Given the description of an element on the screen output the (x, y) to click on. 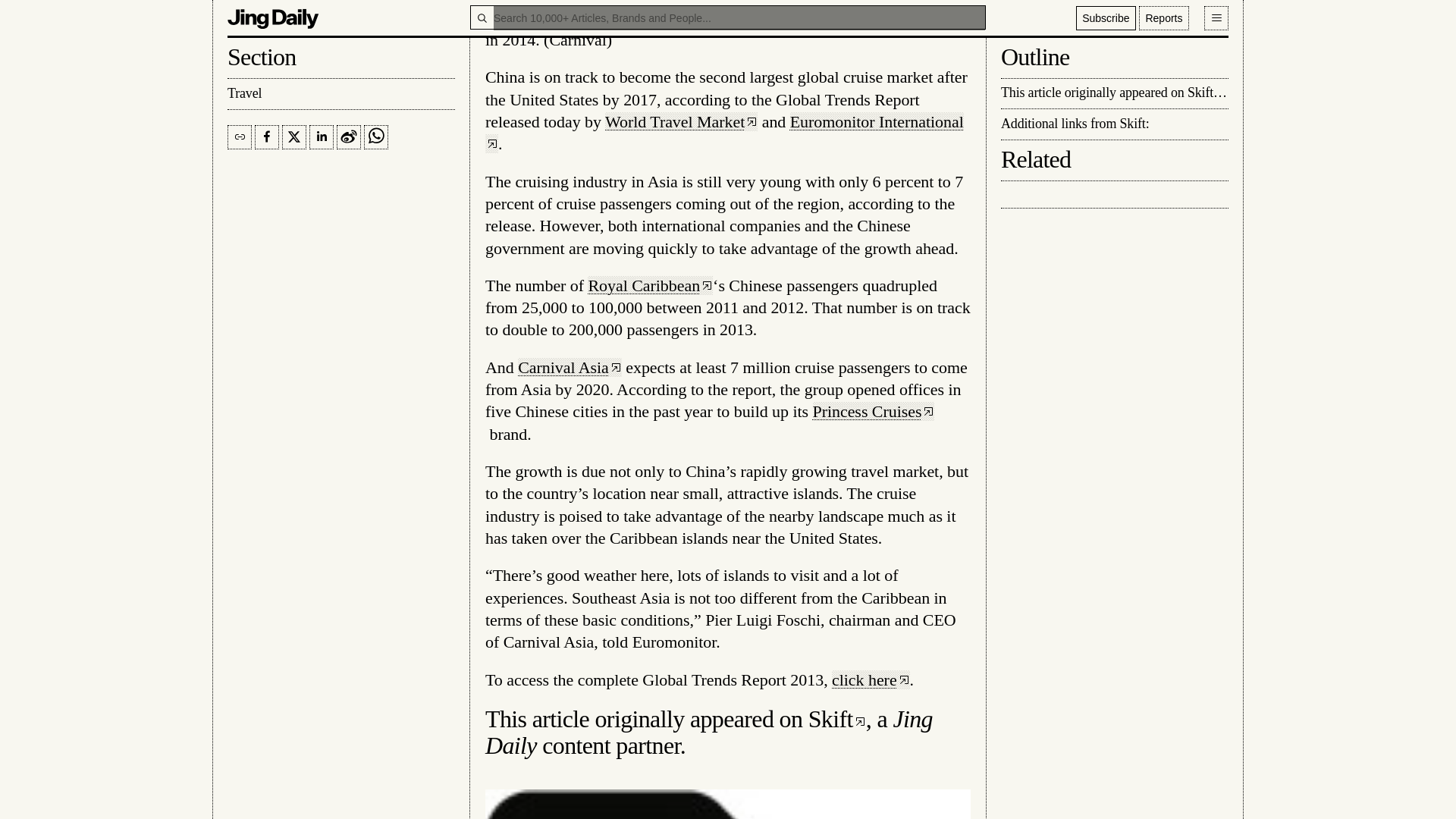
Euromonitor International (723, 132)
Skift (837, 718)
World Travel Market (681, 121)
This article originally appeared on (646, 718)
Royal Caribbean (650, 285)
Carnival Asia (569, 366)
click here (870, 679)
Princess Cruises (873, 411)
